Given the description of an element on the screen output the (x, y) to click on. 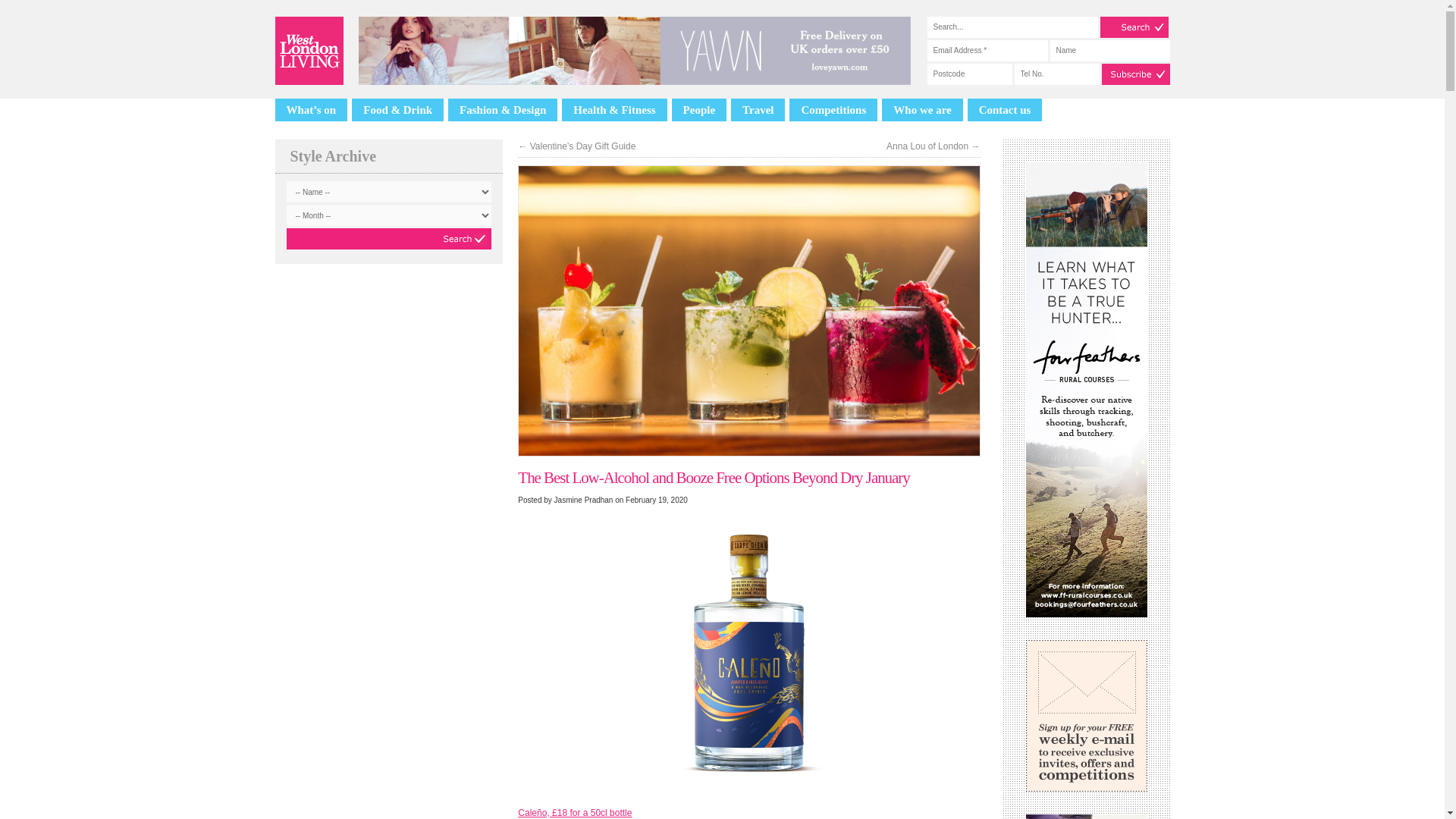
Go (389, 238)
Search (1133, 26)
Subscribe (1134, 74)
Postcode (968, 74)
Name (1109, 50)
Subscribe (1134, 74)
West London Living (308, 50)
Search (1133, 26)
Tel No. (1056, 74)
